Given the description of an element on the screen output the (x, y) to click on. 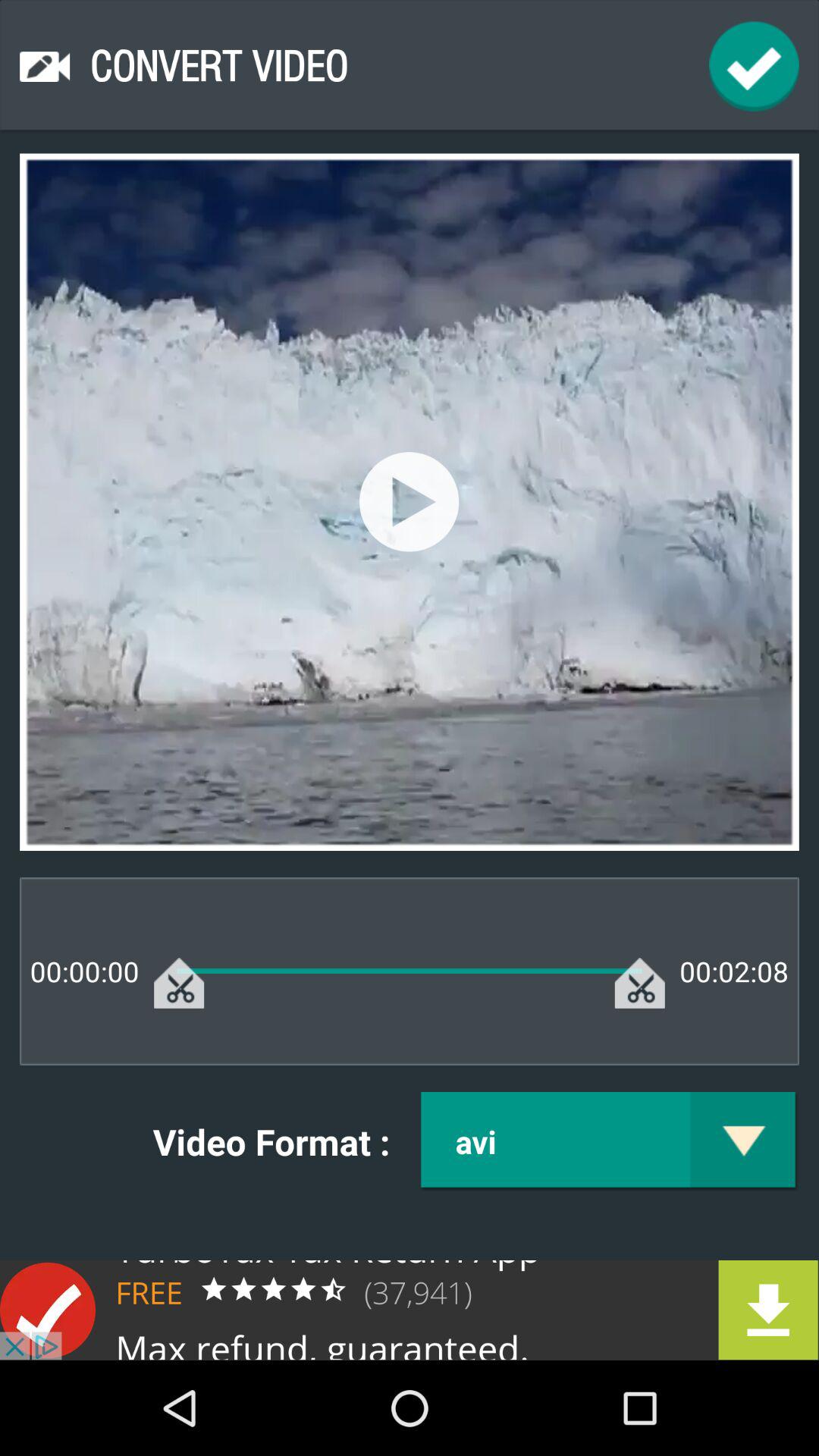
content play button (408, 501)
